Given the description of an element on the screen output the (x, y) to click on. 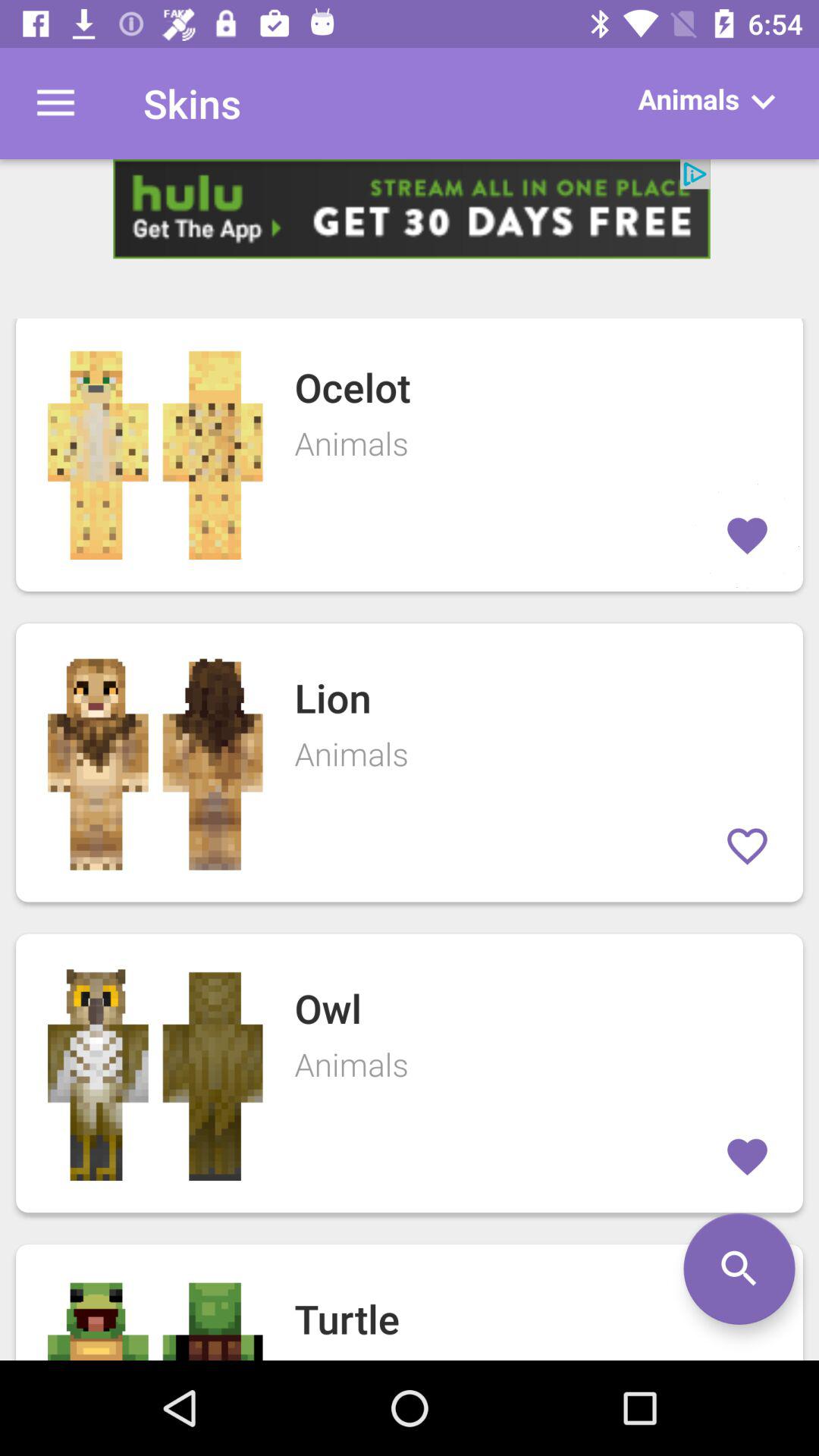
select the second text below skins (409, 762)
click on the second image  (154, 762)
choose the second  frames love icon (747, 846)
select the like icon in the first image (747, 535)
